Given the description of an element on the screen output the (x, y) to click on. 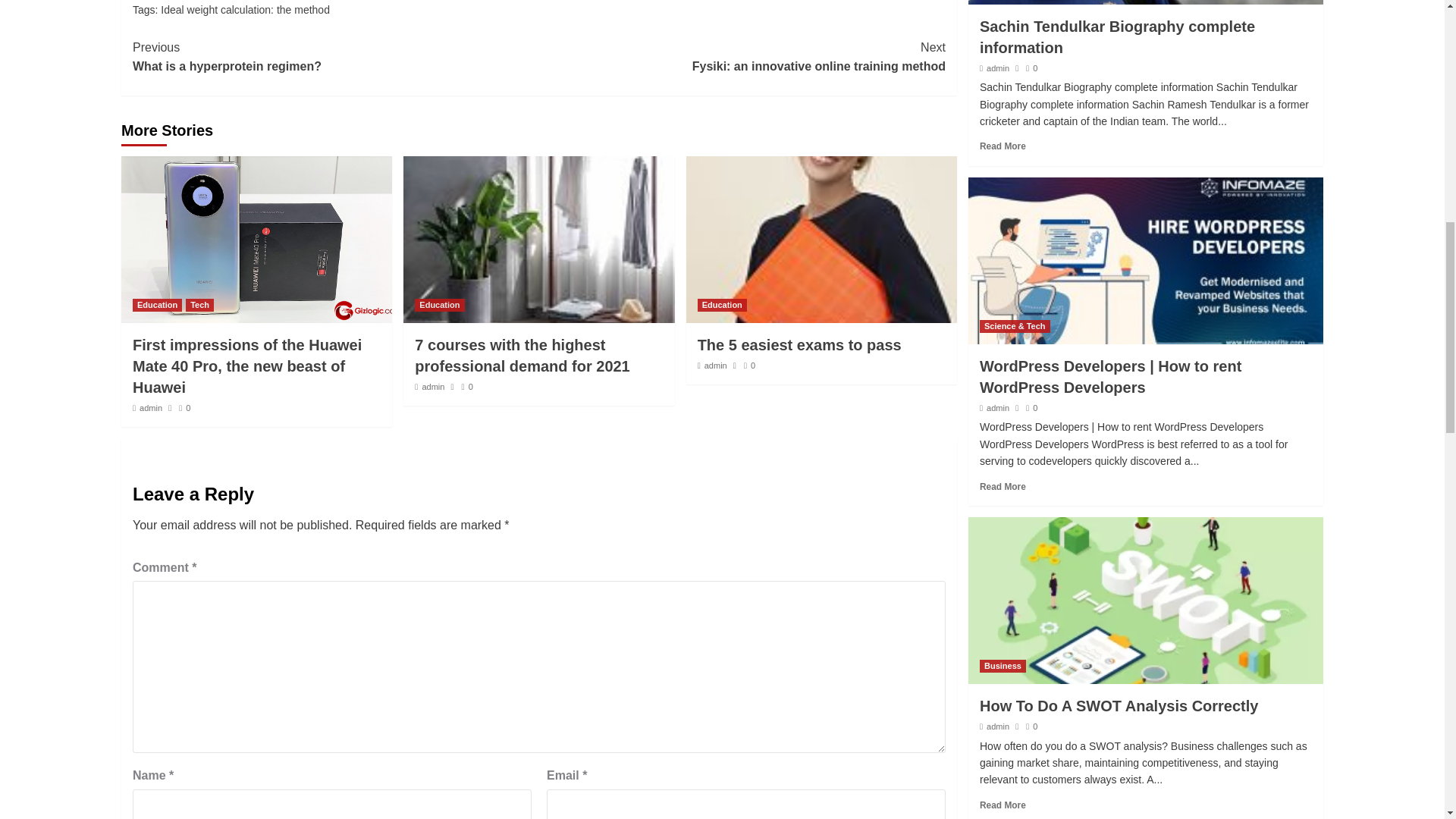
admin (433, 386)
0 (184, 407)
7 courses with the highest professional demand for 2021 (741, 56)
Education (521, 355)
Education (439, 305)
admin (157, 305)
Tech (150, 407)
Ideal weight calculation: the method (200, 305)
